Given the description of an element on the screen output the (x, y) to click on. 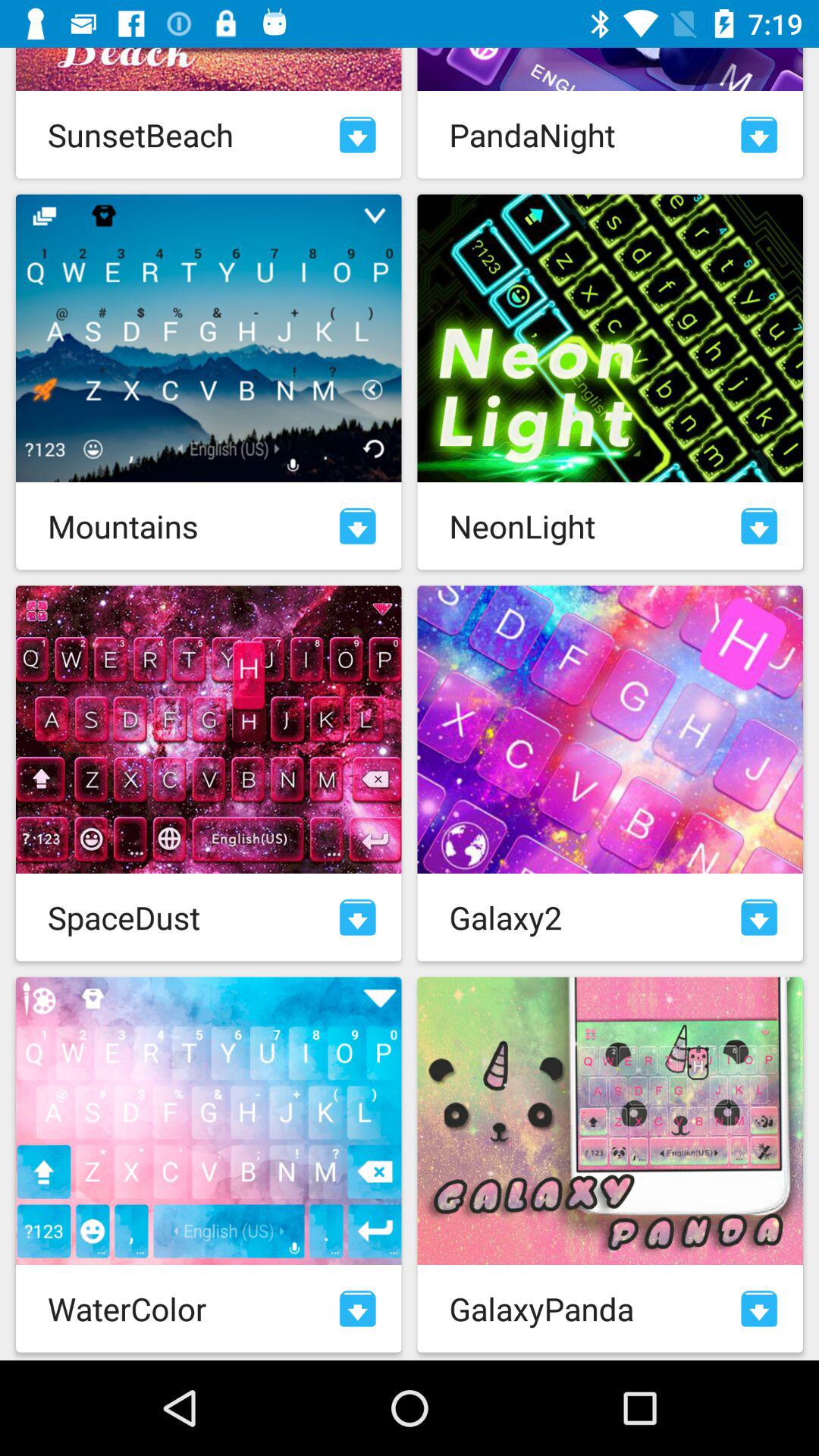
download galaxypanda theme (759, 1308)
